Given the description of an element on the screen output the (x, y) to click on. 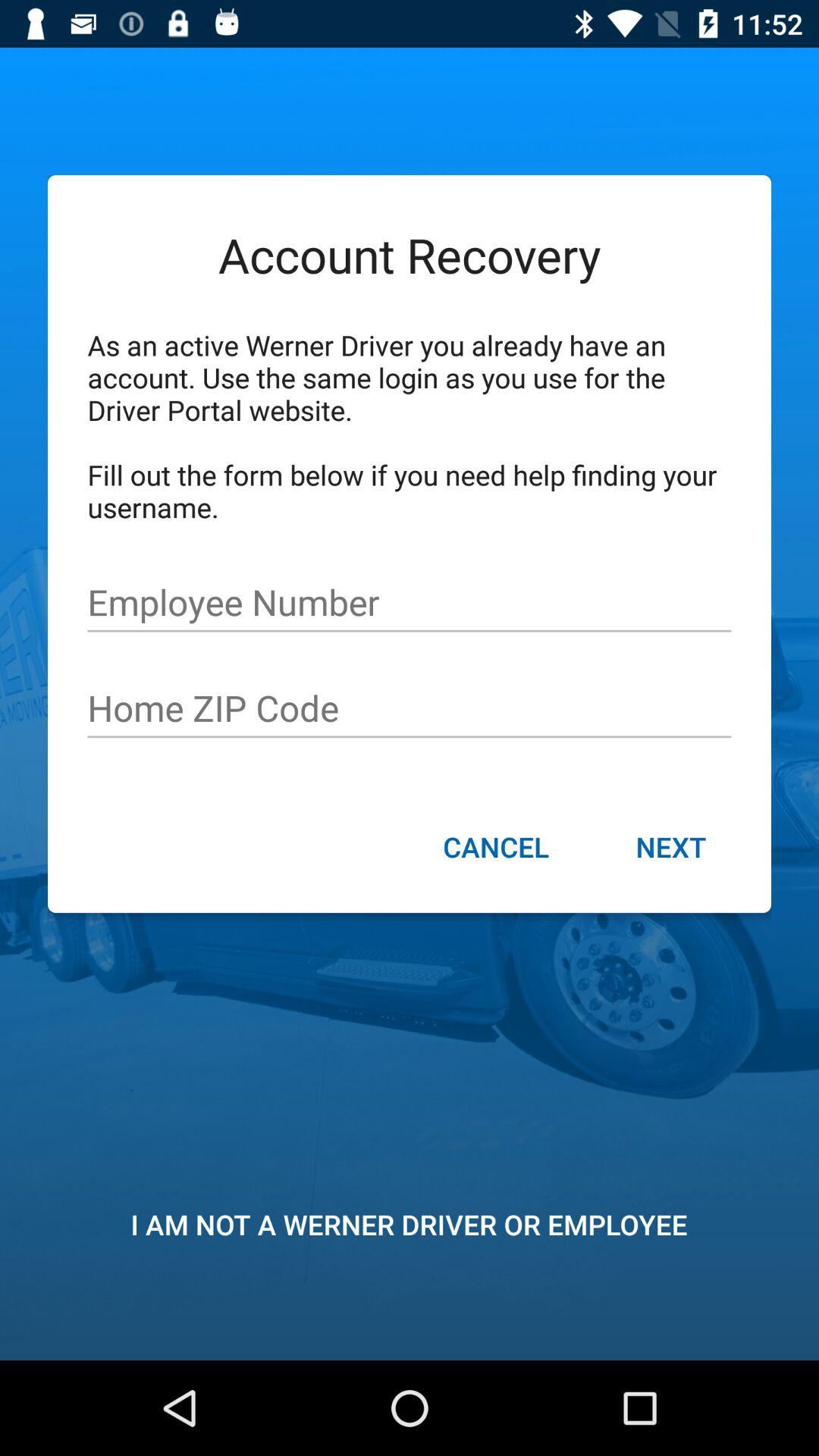
scroll until the next item (670, 848)
